Given the description of an element on the screen output the (x, y) to click on. 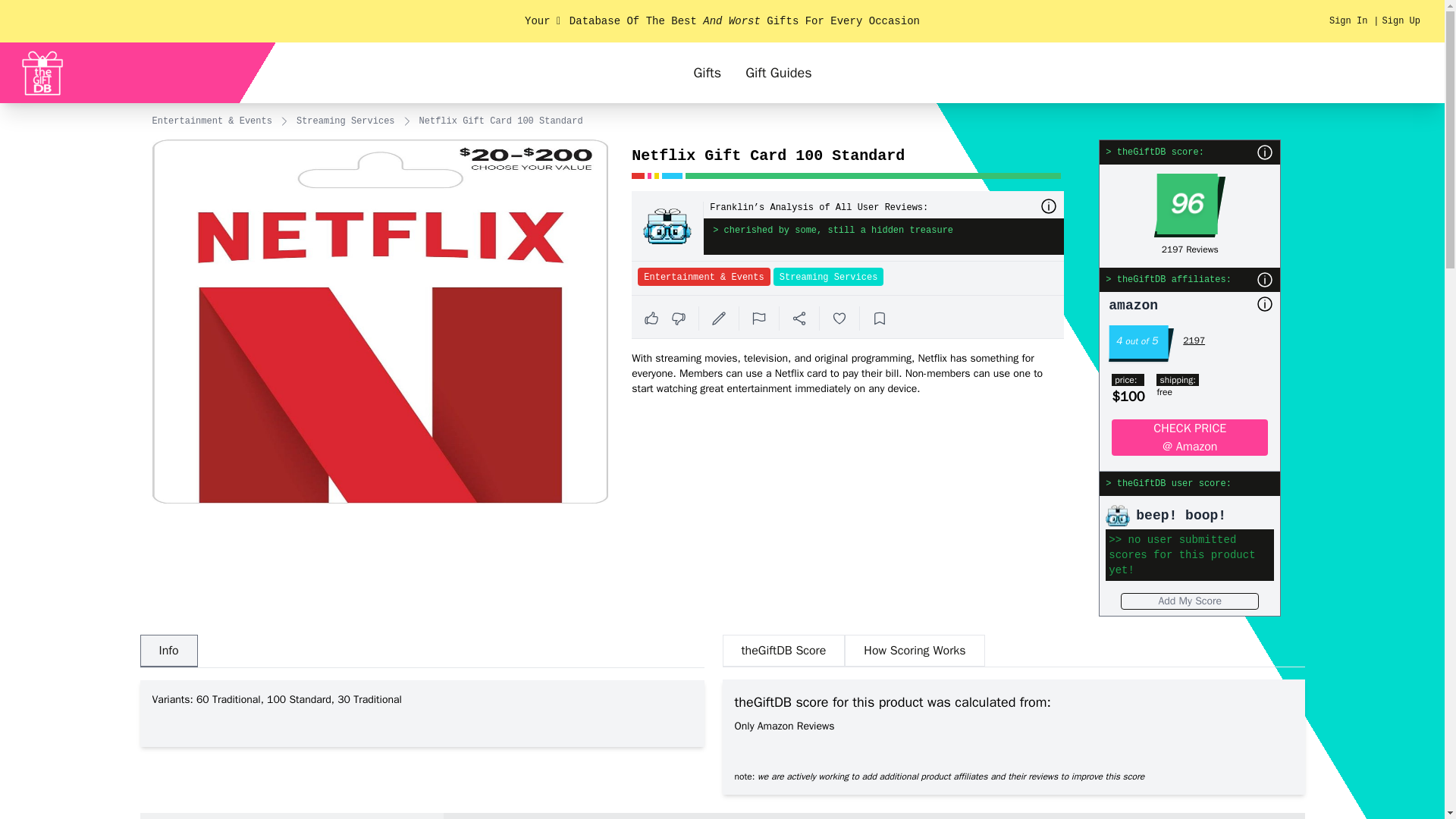
Info (167, 650)
Gifts (706, 73)
Add My Score (1190, 600)
Streaming Services (345, 121)
Gift Guides (777, 73)
How Scoring Works (914, 650)
theGiftDB Score (783, 650)
theGiftDB (47, 72)
Streaming Services (826, 276)
Streaming Services (828, 276)
